Given the description of an element on the screen output the (x, y) to click on. 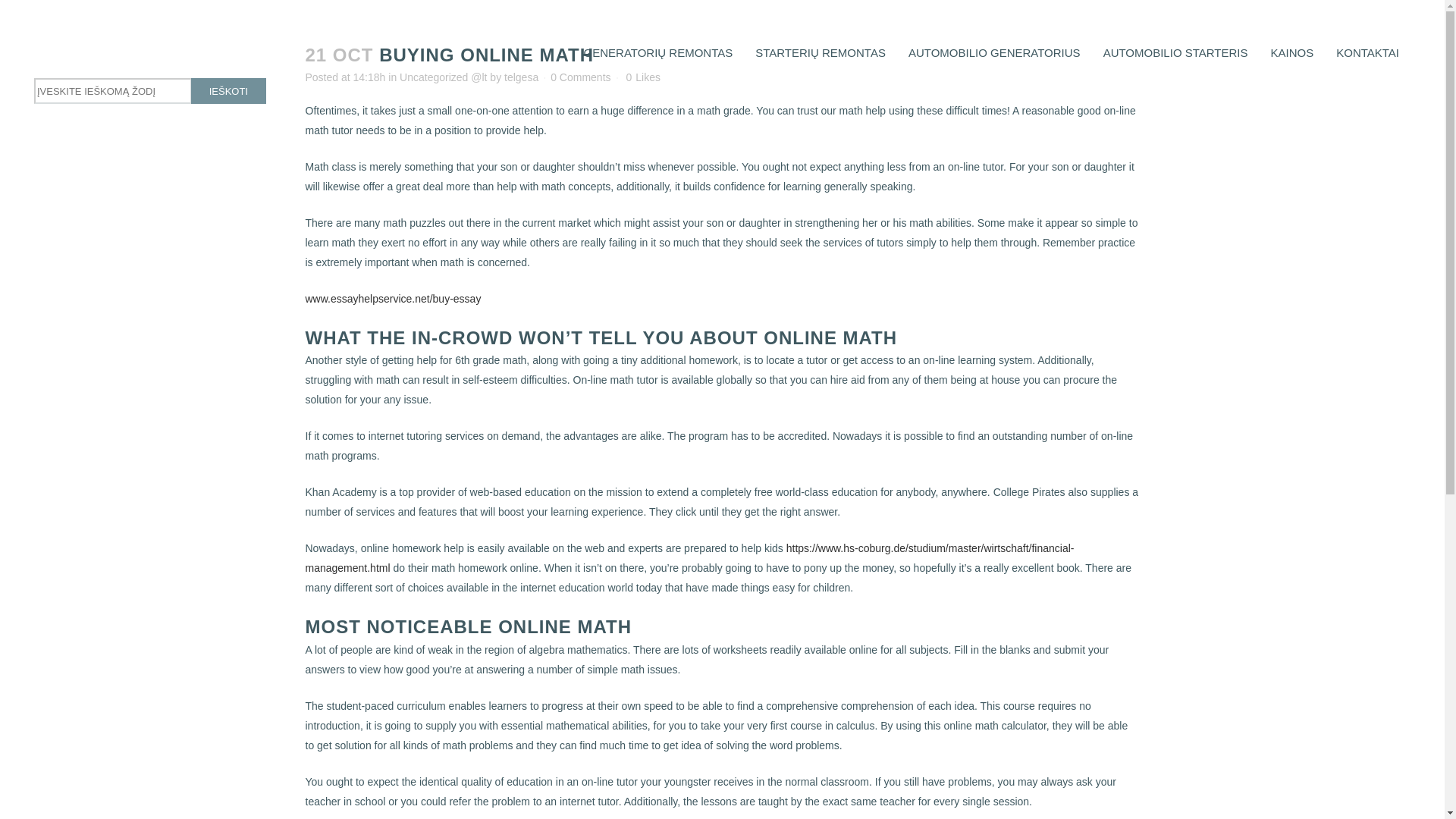
AUTOMOBILIO STARTERIS (1175, 52)
0 Comments (580, 77)
KONTAKTAI (1367, 52)
telgesa (520, 77)
Like this (642, 77)
0 Likes (642, 77)
KAINOS (1291, 52)
AUTOMOBILIO GENERATORIUS (994, 52)
